Given the description of an element on the screen output the (x, y) to click on. 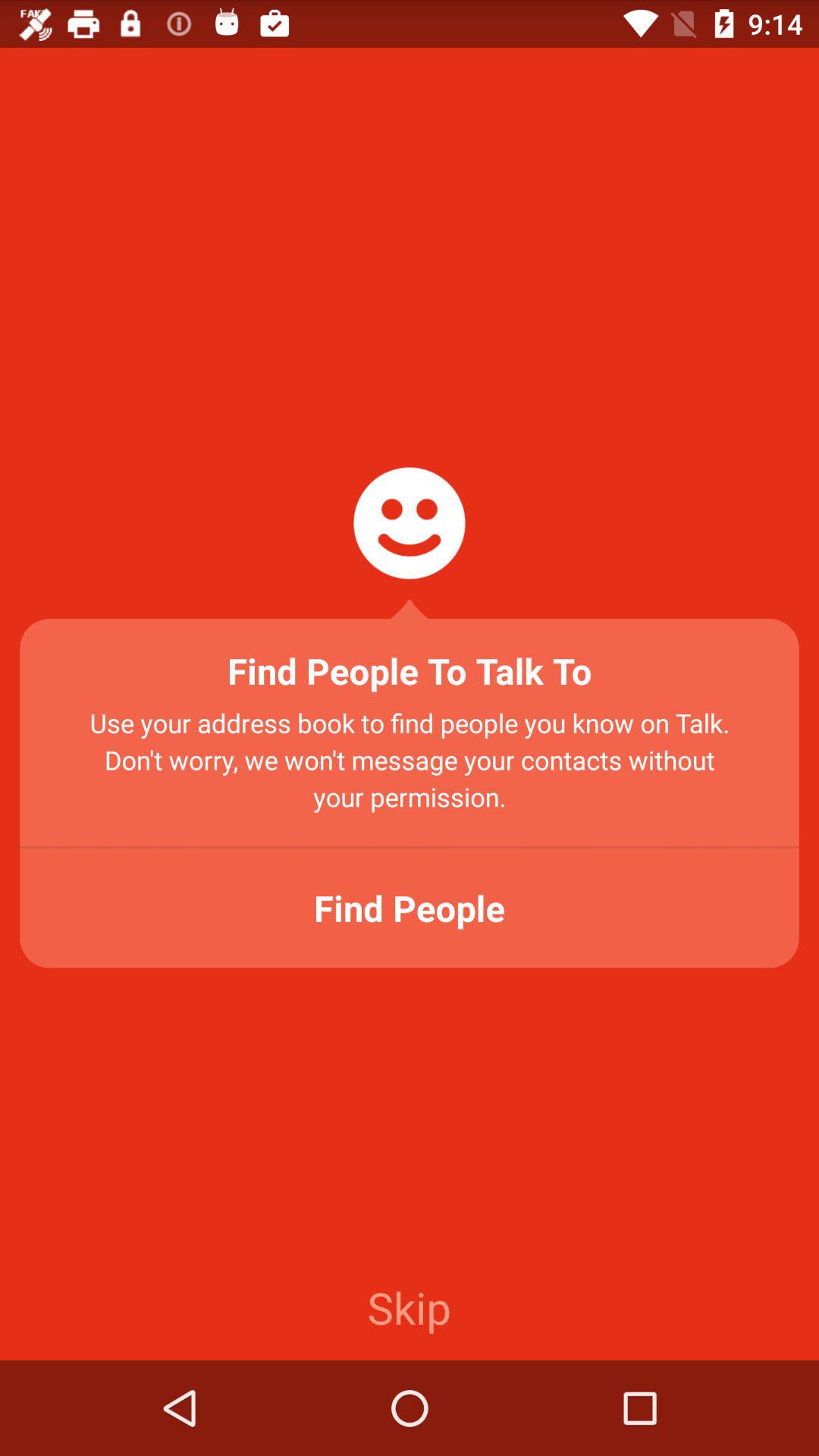
press the item at the bottom (409, 1306)
